Given the description of an element on the screen output the (x, y) to click on. 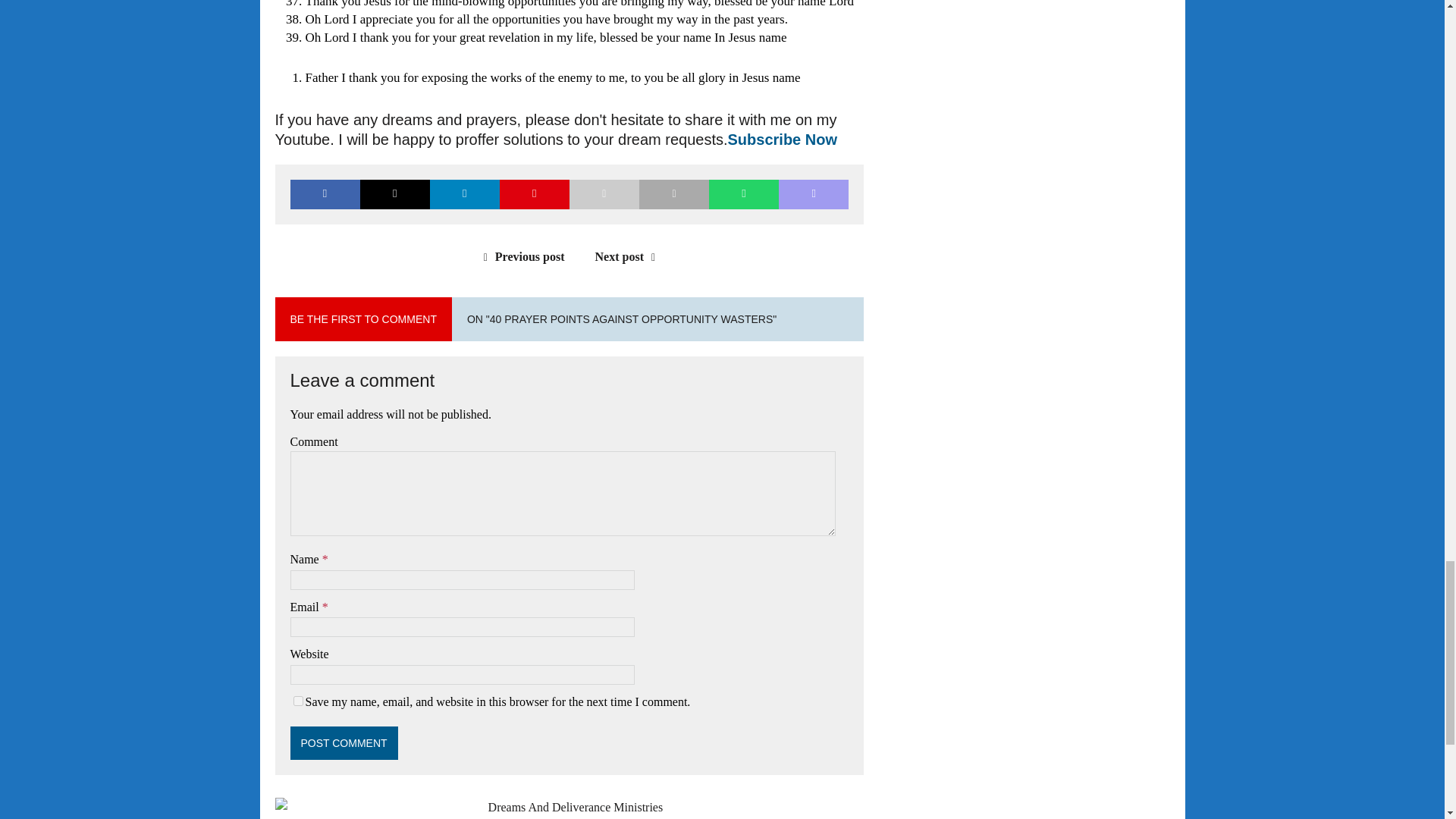
Print this article (674, 194)
Next post (629, 256)
Tweet This Post (394, 194)
Previous post (520, 256)
Post Comment (343, 743)
Subscribe Now (782, 139)
yes (297, 700)
Share on Whatsapp (743, 194)
Post Comment (343, 743)
Send this article to a friend (604, 194)
